Given the description of an element on the screen output the (x, y) to click on. 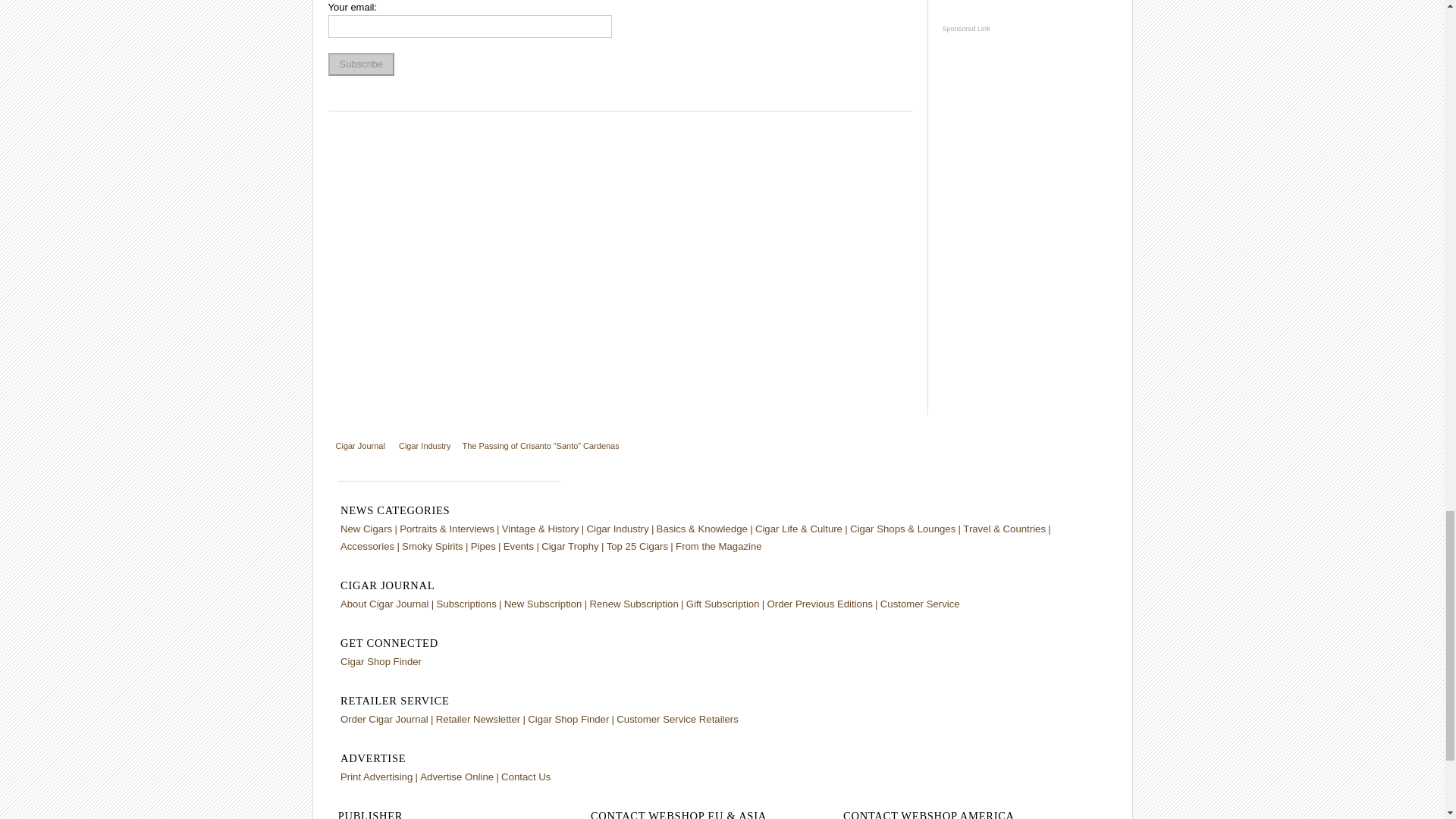
Subscribe (360, 64)
